Given the description of an element on the screen output the (x, y) to click on. 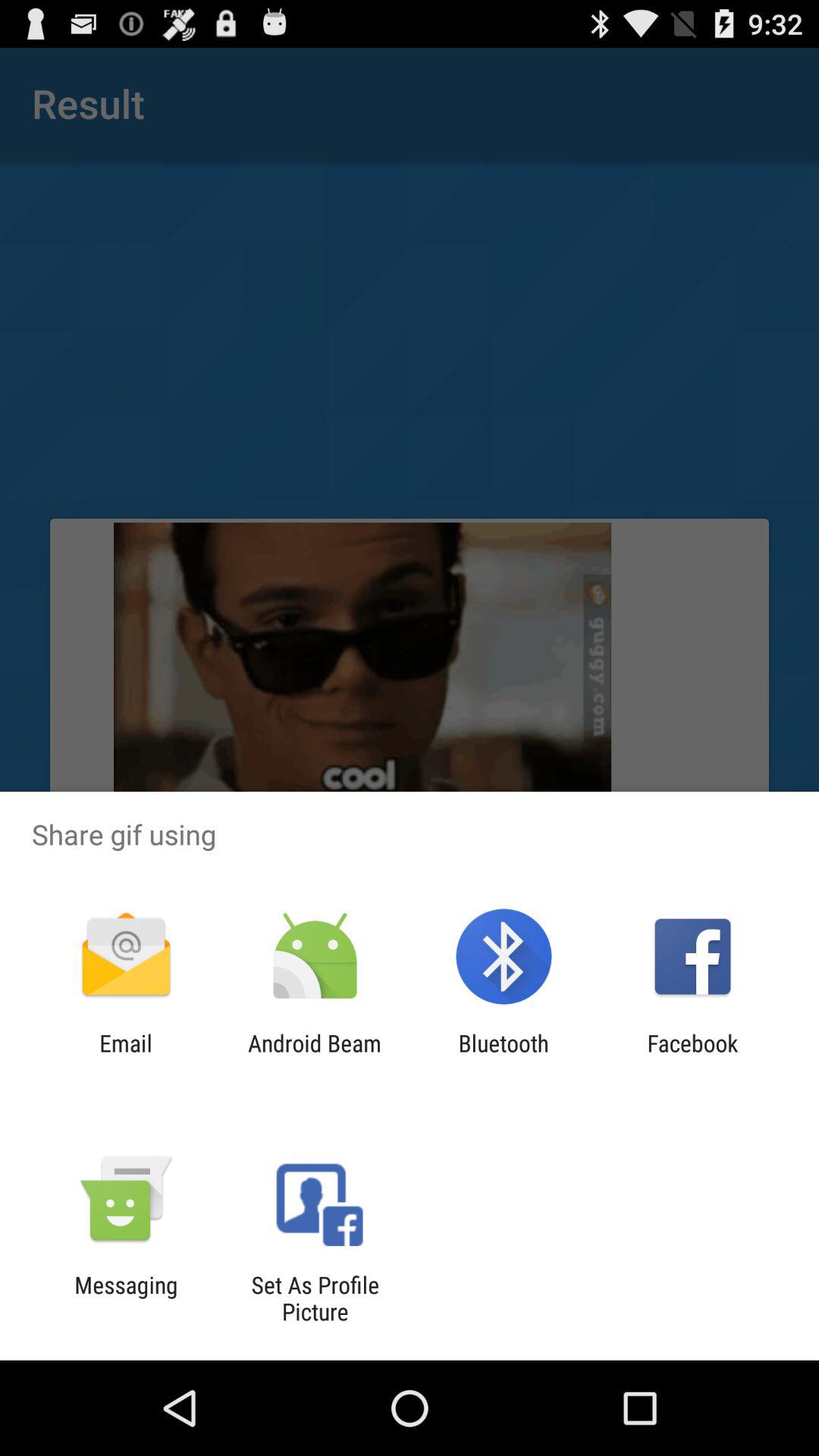
turn off the item to the right of email (314, 1056)
